Given the description of an element on the screen output the (x, y) to click on. 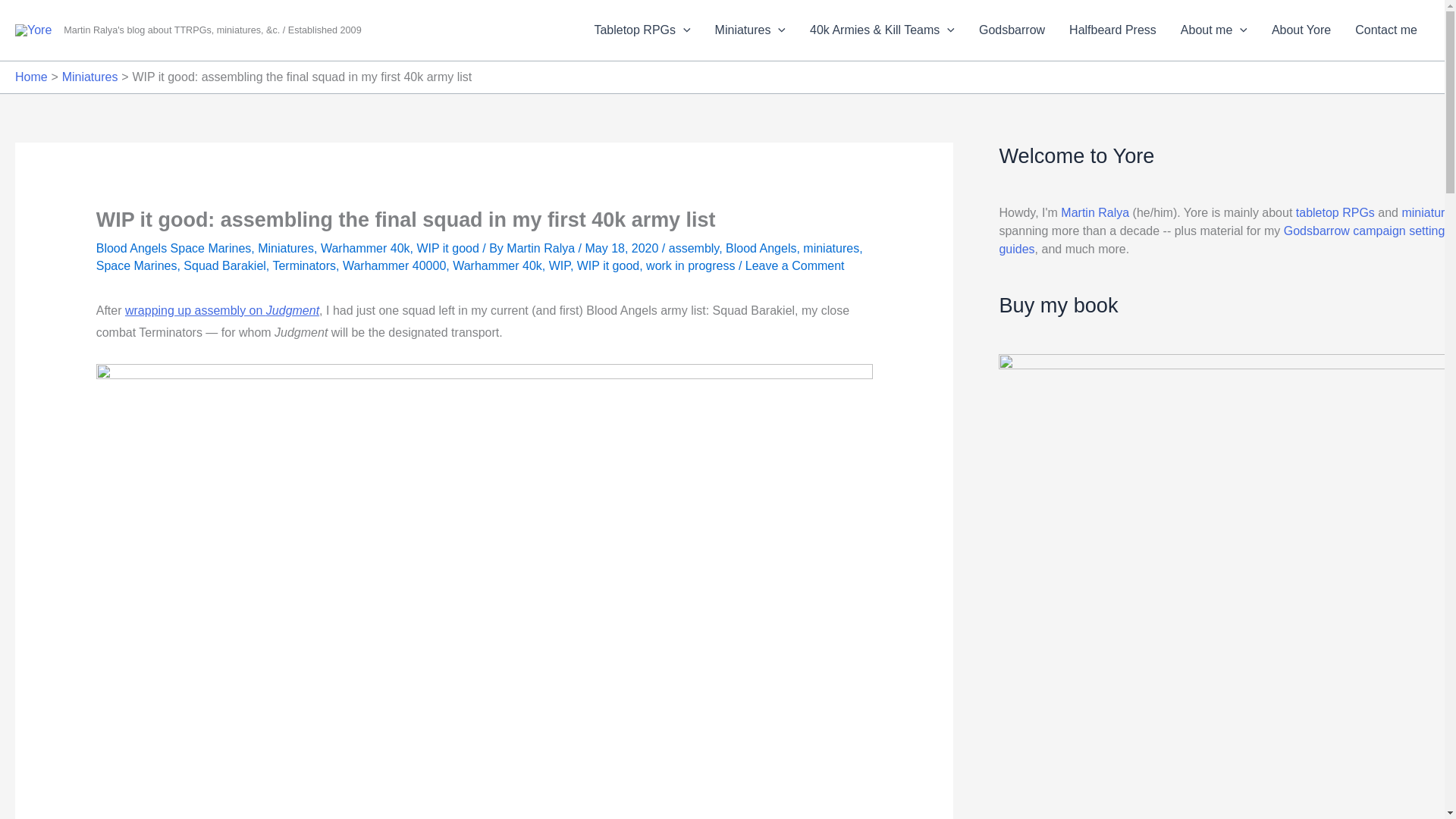
Miniatures (750, 30)
Tabletop RPGs (640, 30)
View all posts by Martin Ralya (542, 247)
